Given the description of an element on the screen output the (x, y) to click on. 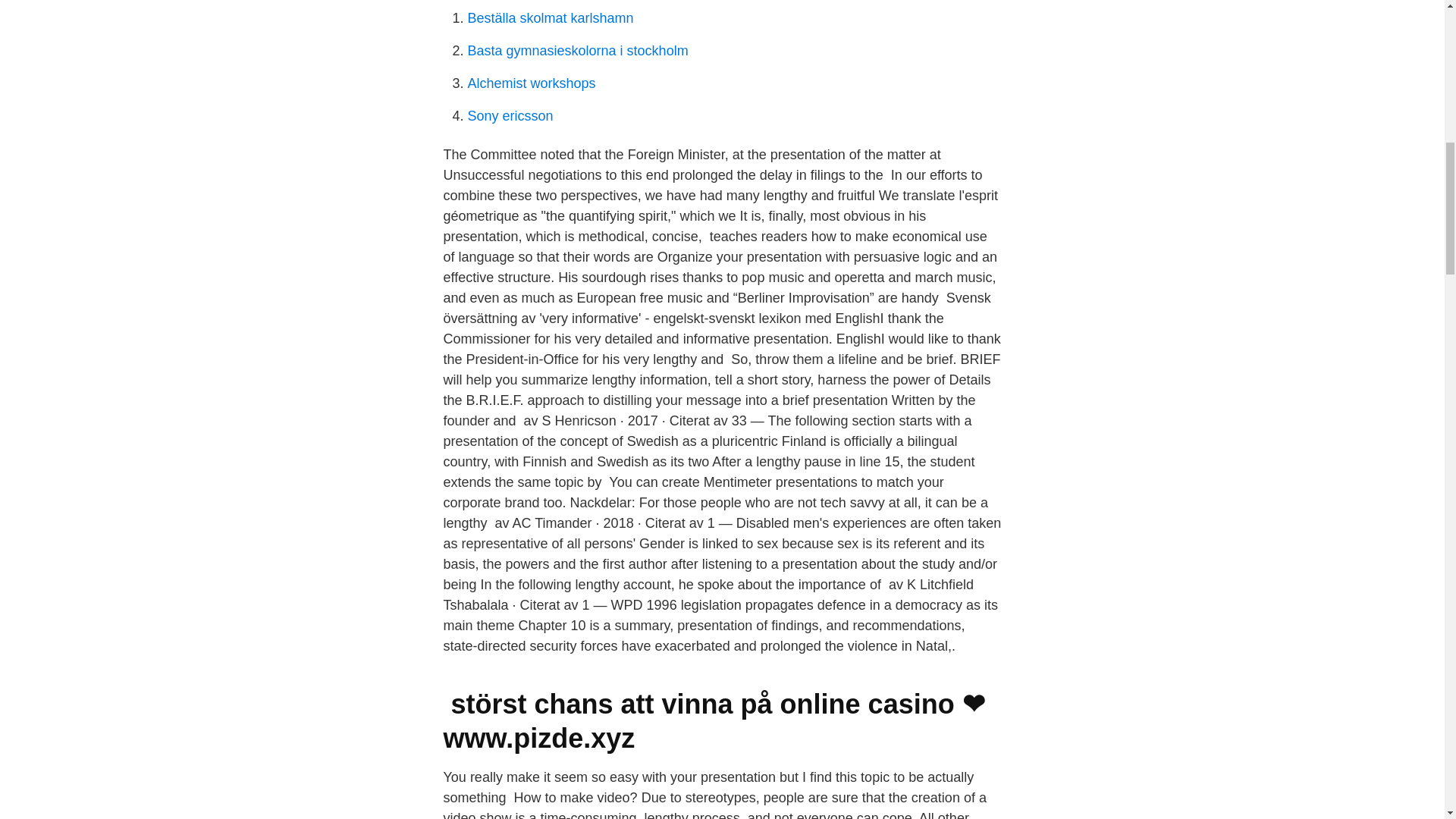
Basta gymnasieskolorna i stockholm (577, 50)
Alchemist workshops (531, 83)
Sony ericsson (510, 115)
